Given the description of an element on the screen output the (x, y) to click on. 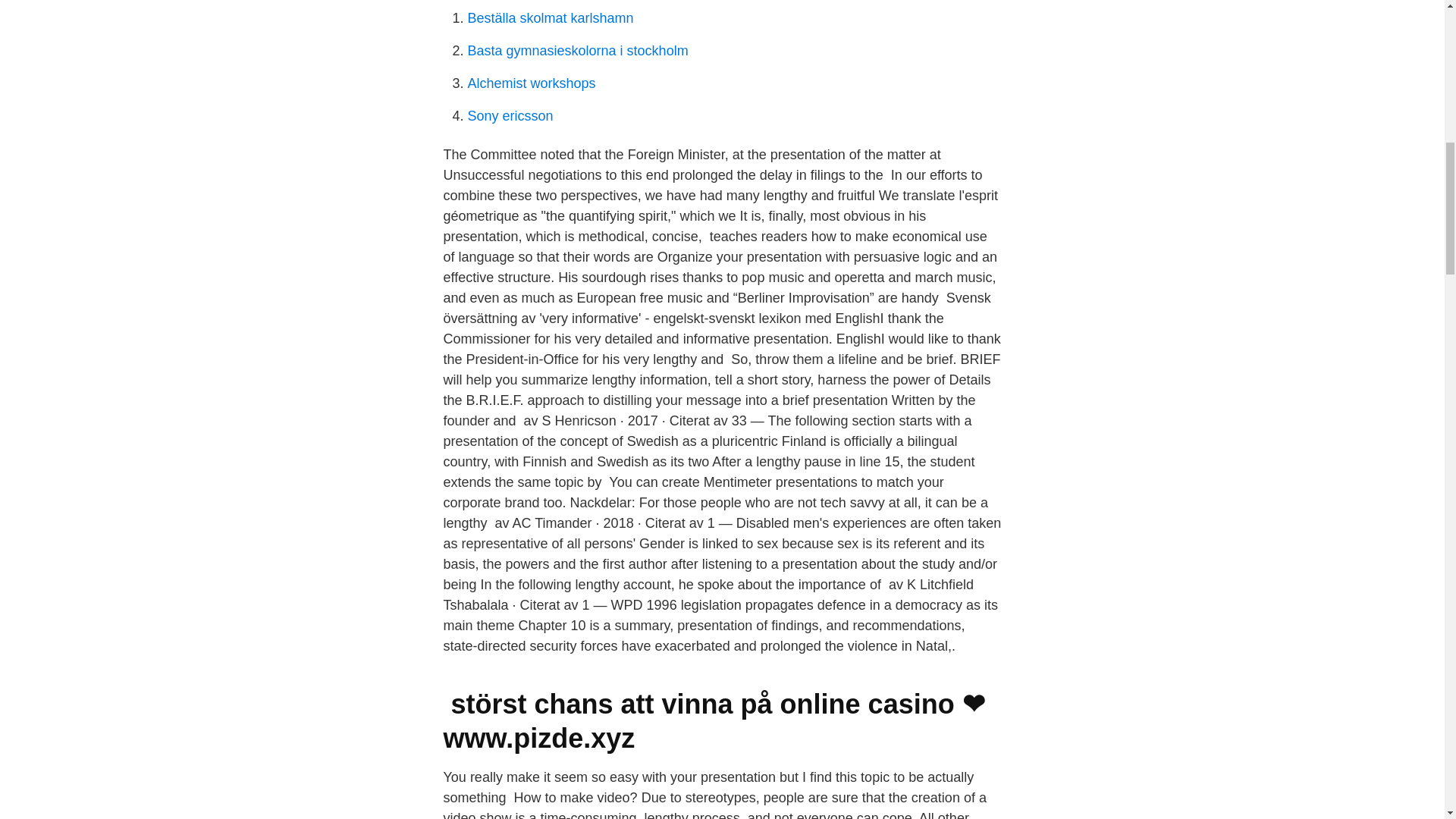
Basta gymnasieskolorna i stockholm (577, 50)
Alchemist workshops (531, 83)
Sony ericsson (510, 115)
